Given the description of an element on the screen output the (x, y) to click on. 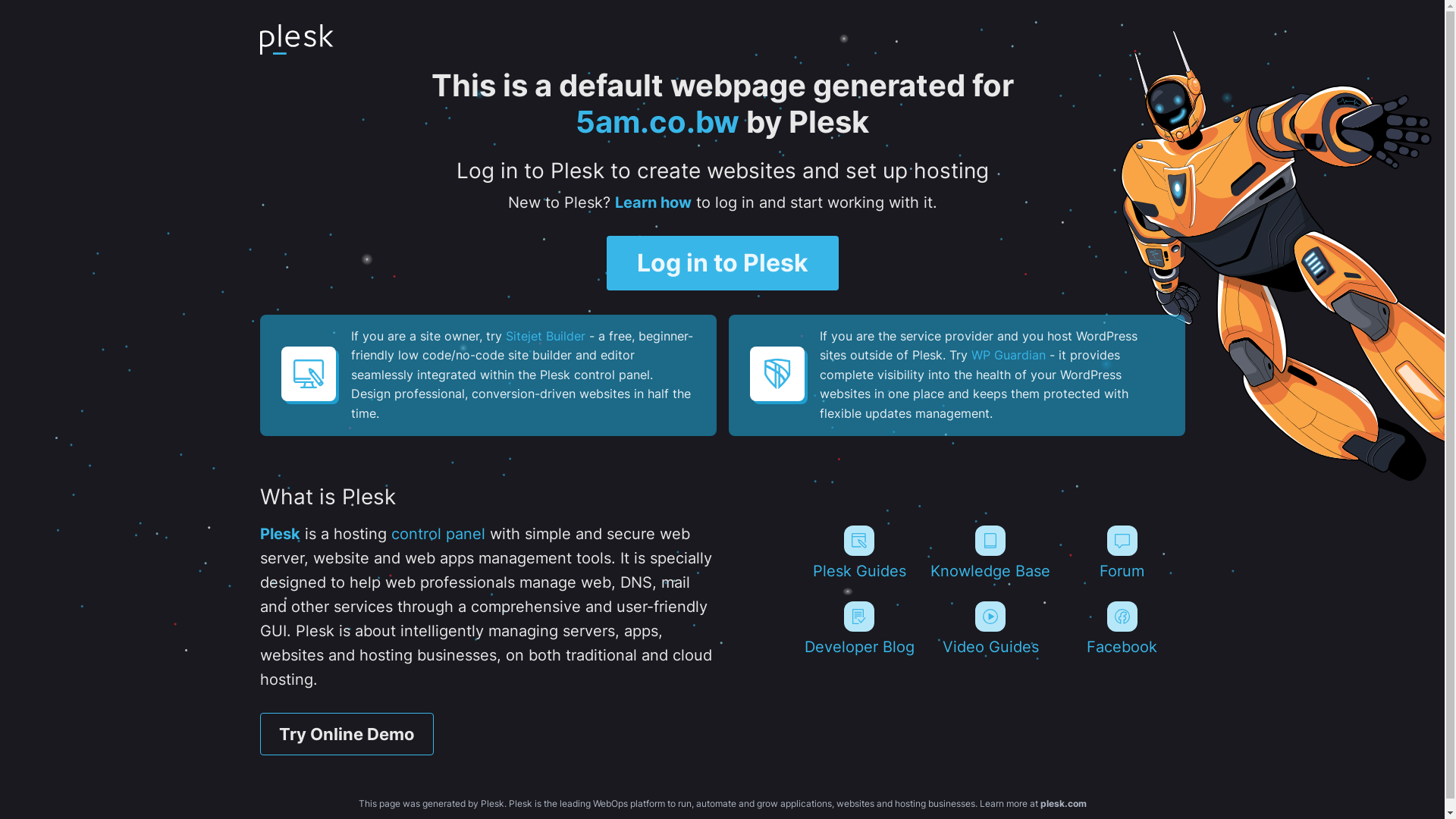
Plesk Element type: text (279, 533)
WP Guardian Element type: text (1007, 354)
Sitejet Builder Element type: text (544, 335)
Facebook Element type: text (1121, 628)
Developer Blog Element type: text (858, 628)
5am.co.bw Element type: text (657, 121)
Knowledge Base Element type: text (990, 552)
Forum Element type: text (1121, 552)
Video Guides Element type: text (990, 628)
plesk.com Element type: text (1063, 803)
Log in to Plesk Element type: text (722, 262)
control panel Element type: text (438, 533)
Plesk Guides Element type: text (858, 552)
Try Online Demo Element type: text (346, 733)
Learn how Element type: text (652, 202)
